Given the description of an element on the screen output the (x, y) to click on. 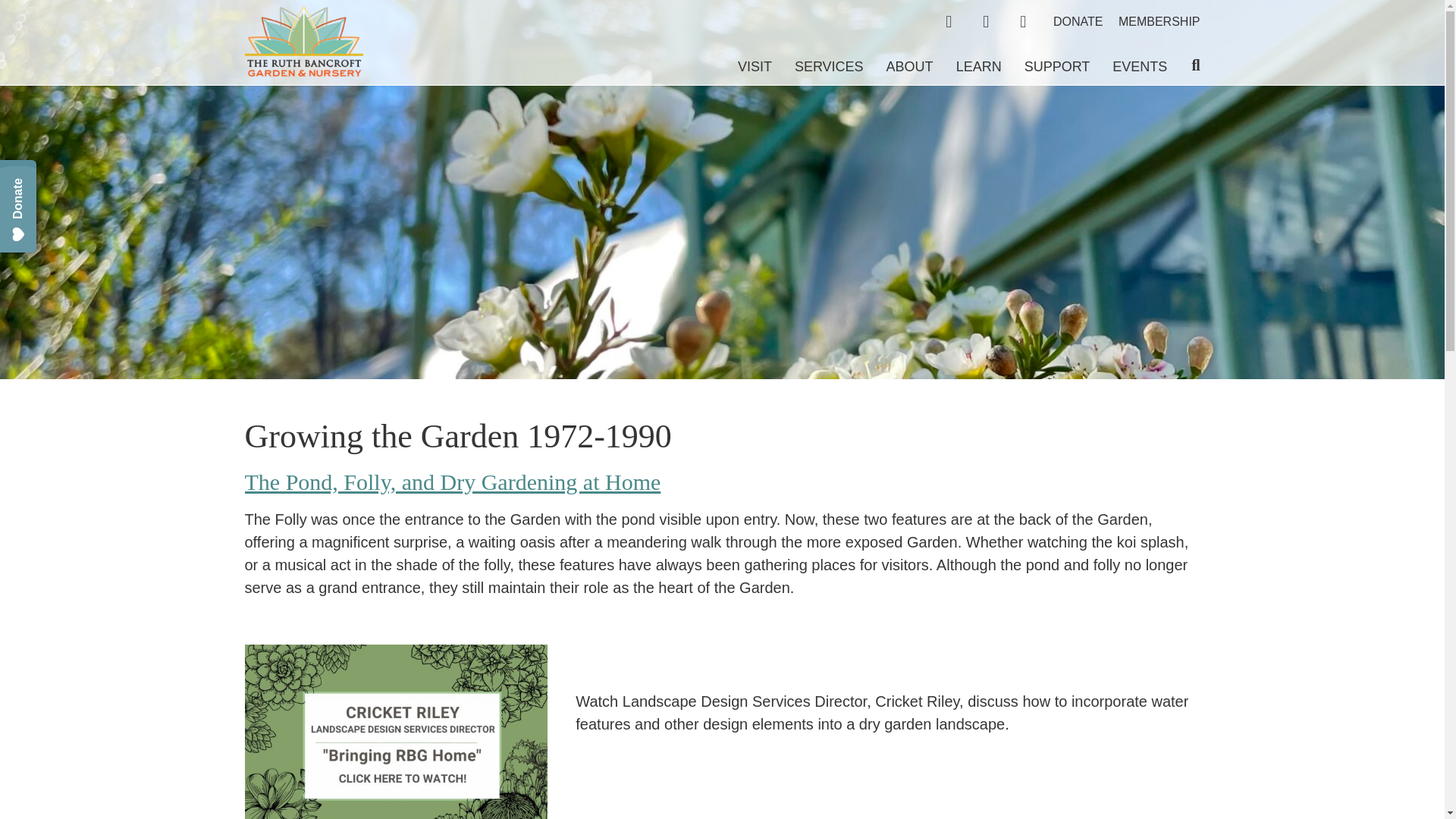
Shop (949, 21)
Persistent Donate Button (48, 178)
VISIT (742, 66)
My Account (986, 21)
cart (1023, 21)
MEMBERSHIP (1158, 21)
DONATE (1077, 21)
SERVICES (817, 66)
Search (1183, 64)
